Given the description of an element on the screen output the (x, y) to click on. 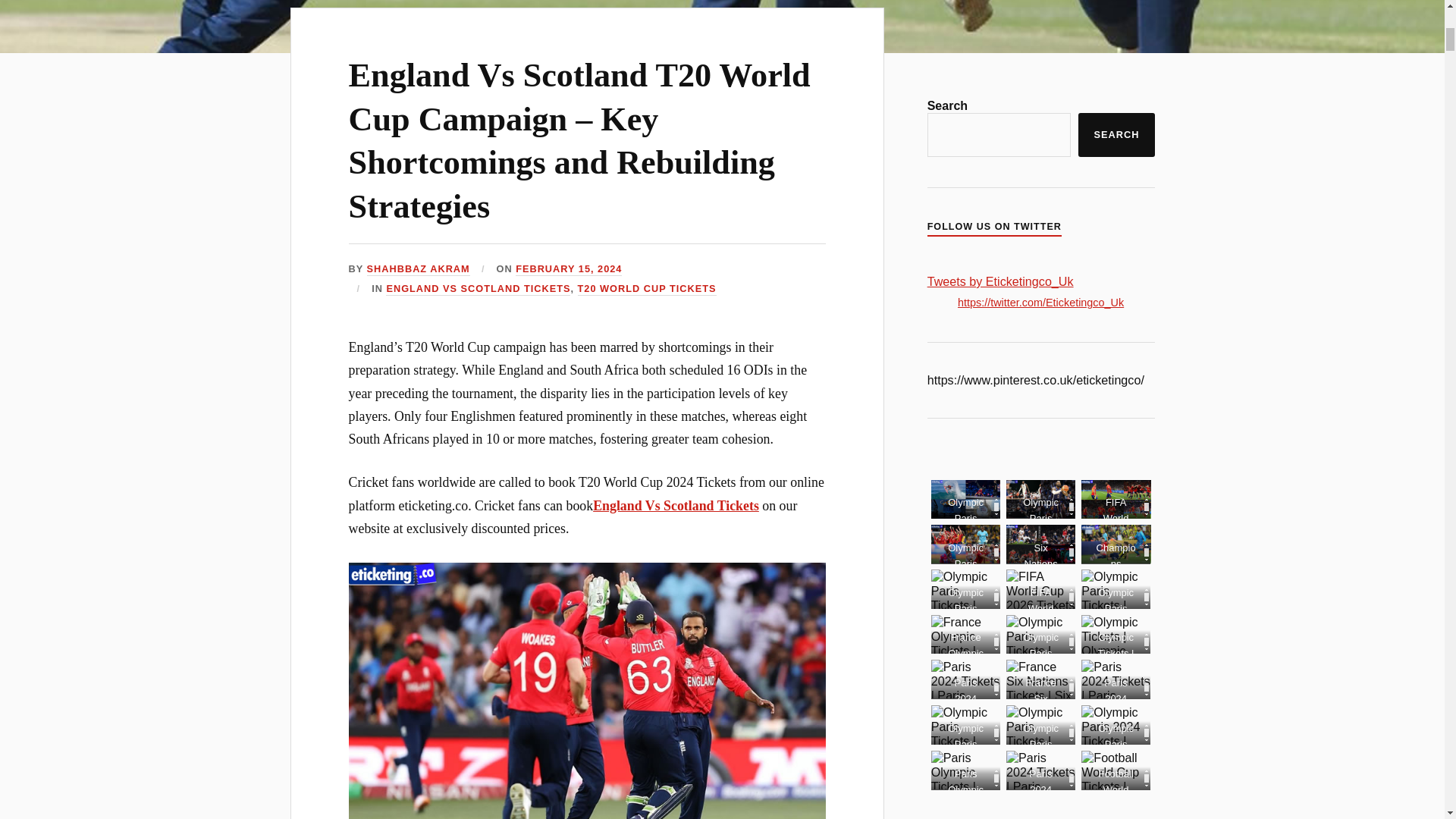
SHAHBBAZ AKRAM (418, 269)
ENGLAND VS SCOTLAND TICKETS (477, 288)
FEBRUARY 15, 2024 (568, 269)
Posts by Shahbbaz Akram (418, 269)
England Vs Scotland Tickets (675, 505)
T20 WORLD CUP TICKETS (647, 288)
